Given the description of an element on the screen output the (x, y) to click on. 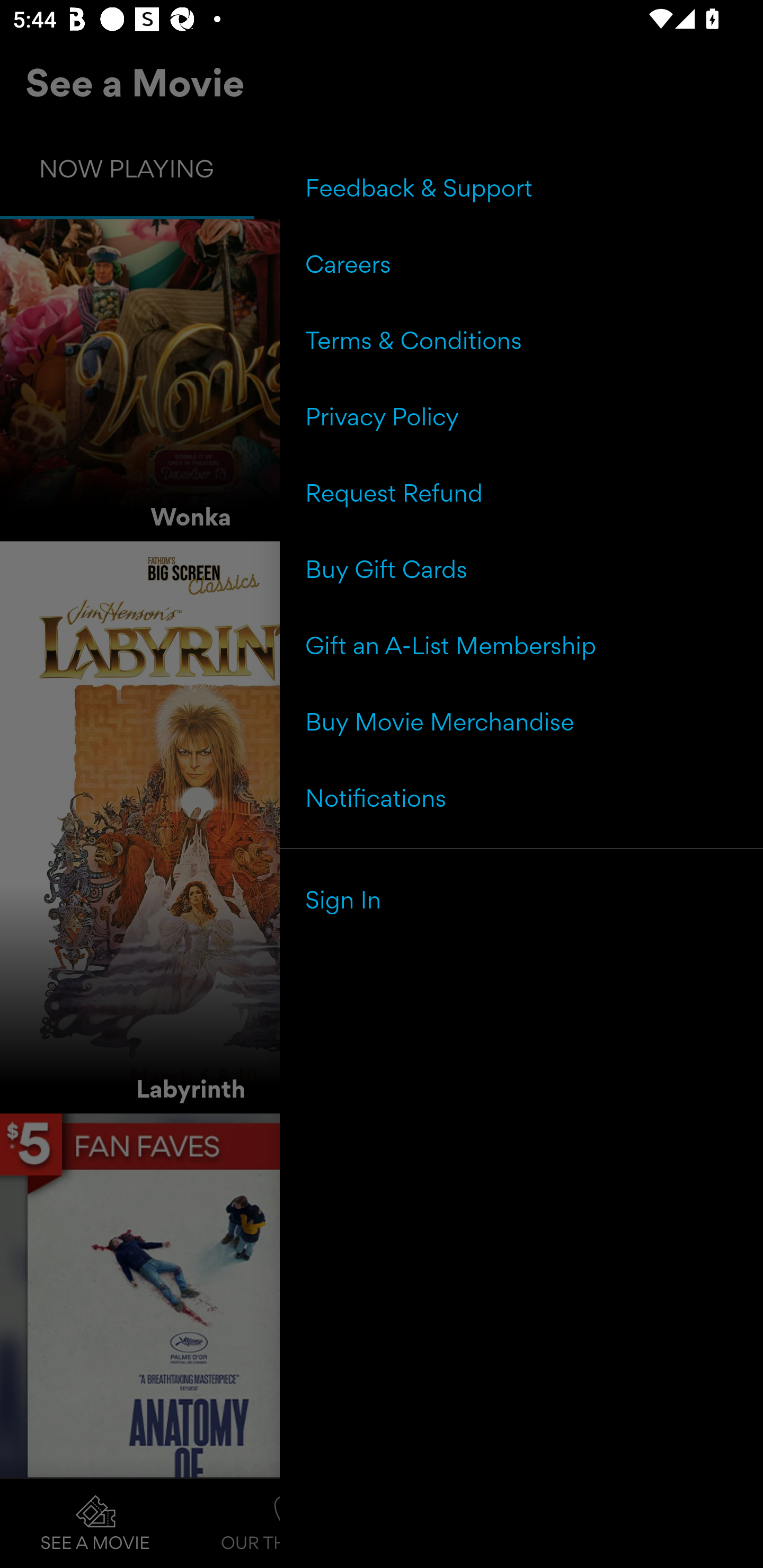
Feedback & Support (521, 186)
Careers (521, 263)
Terms & Conditions (521, 339)
Privacy Policy (521, 415)
Request Refund (521, 492)
Buy Gift Cards (521, 568)
Gift an A-List Membership (521, 644)
Buy Movie Merchandise (521, 720)
Notifications (521, 796)
Sign In (521, 898)
